Given the description of an element on the screen output the (x, y) to click on. 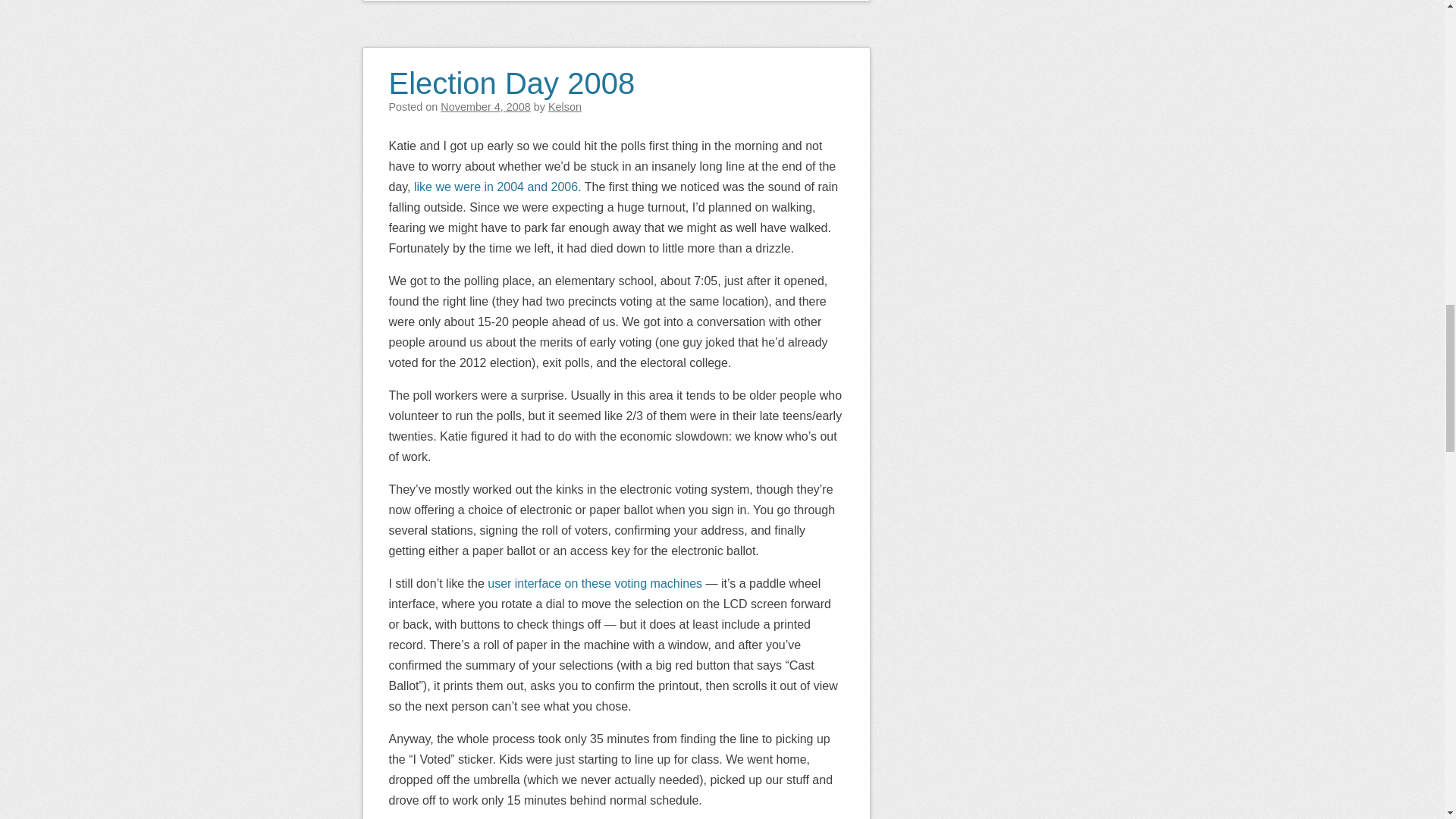
Kelson (564, 106)
11:59 PM (485, 106)
View all posts by Kelson (564, 106)
Election Day 2008 (511, 73)
like we were in 2004 and 2006 (495, 186)
November 4, 2008 (485, 106)
Permalink to Election Day 2008 (511, 73)
user interface on these voting machines (594, 583)
